Given the description of an element on the screen output the (x, y) to click on. 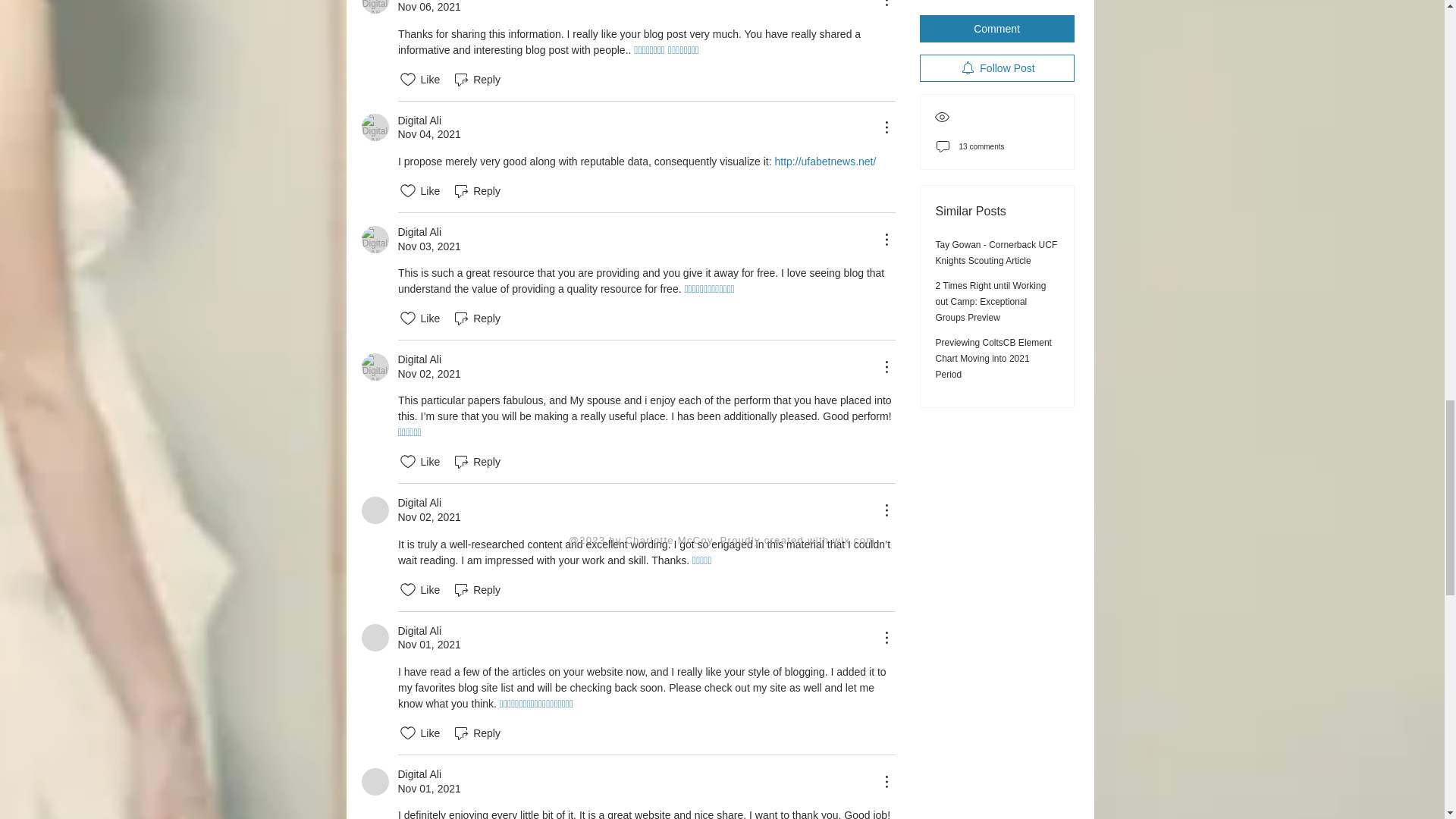
Digital Ali (374, 781)
Digital Ali (374, 637)
Digital Ali (374, 239)
Digital Ali (374, 126)
Digital Ali (374, 510)
Digital Ali (374, 366)
Digital Ali (374, 6)
